Given the description of an element on the screen output the (x, y) to click on. 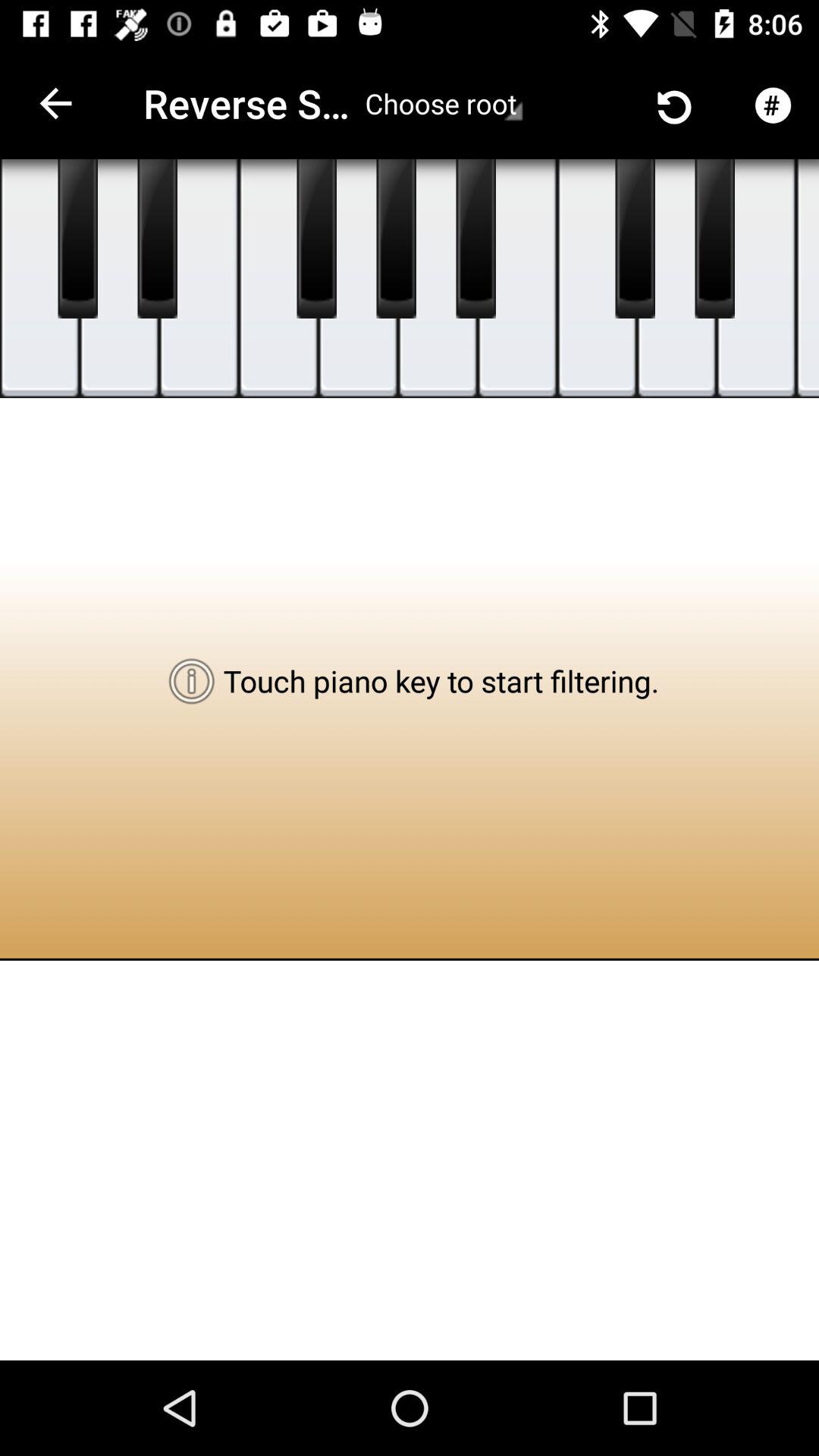
click icon to the right of choose root (579, 103)
